Given the description of an element on the screen output the (x, y) to click on. 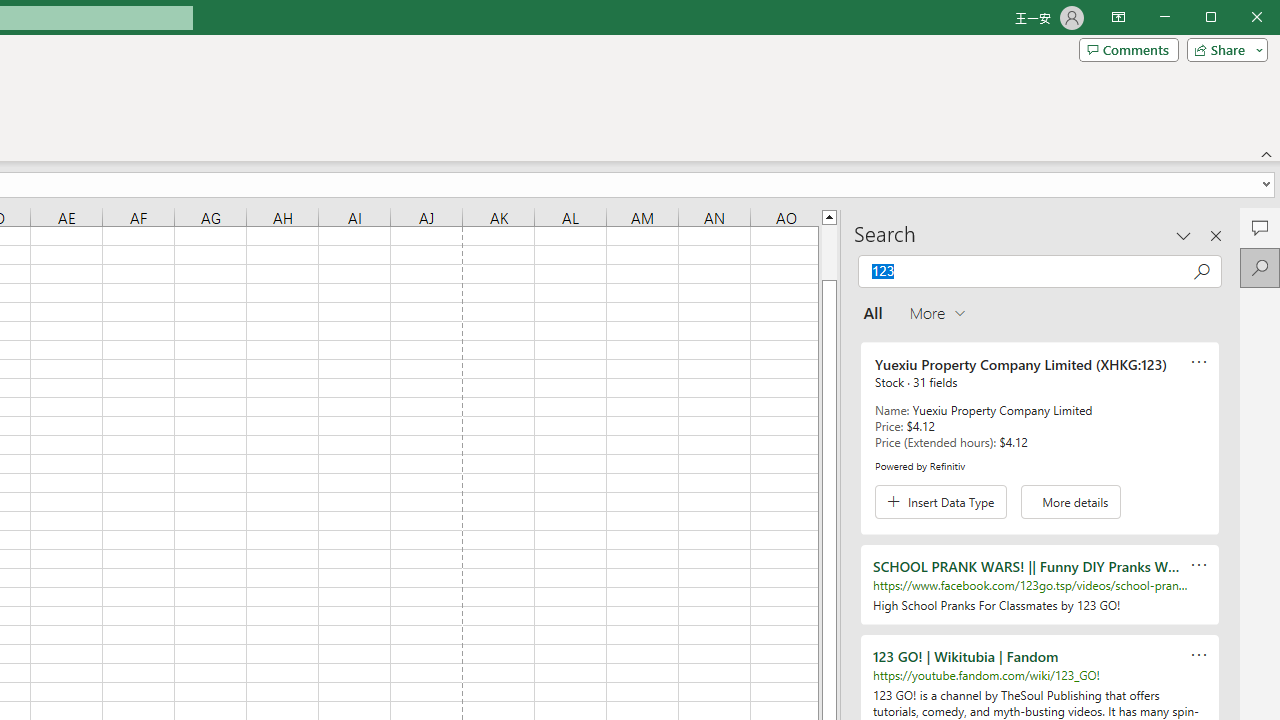
Line up (829, 216)
Close pane (1215, 235)
Close (1261, 18)
Comments (1260, 227)
Collapse the Ribbon (1267, 154)
Ribbon Display Options (1118, 17)
Share (1223, 49)
Comments (1128, 49)
Search (1260, 267)
Task Pane Options (1183, 235)
Minimize (1217, 18)
Page up (829, 252)
Maximize (1239, 18)
